Given the description of an element on the screen output the (x, y) to click on. 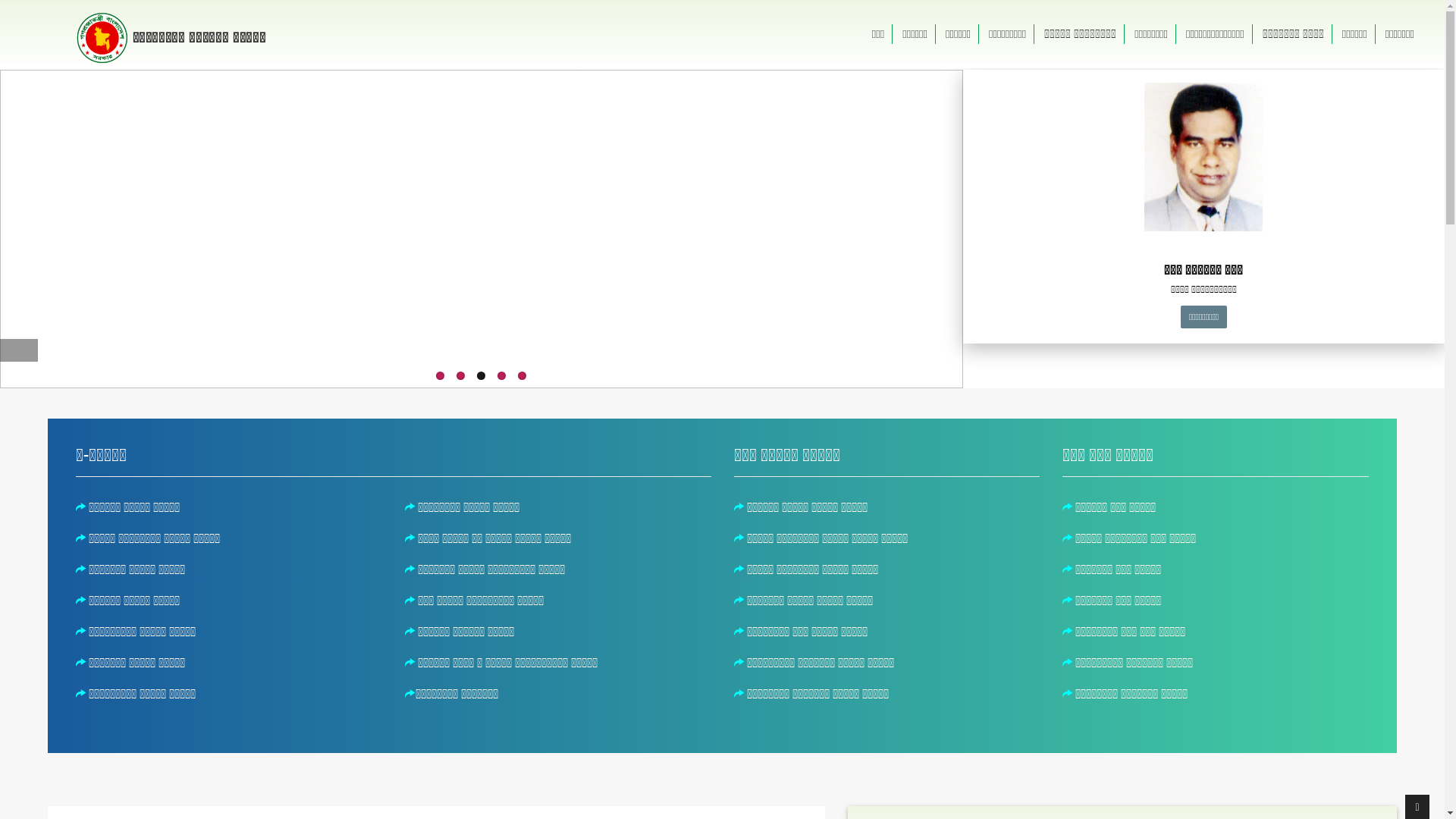
3 Element type: text (480, 375)
2 Element type: text (460, 375)
1 Element type: text (440, 375)
5 Element type: text (521, 375)
4 Element type: text (501, 375)
